Given the description of an element on the screen output the (x, y) to click on. 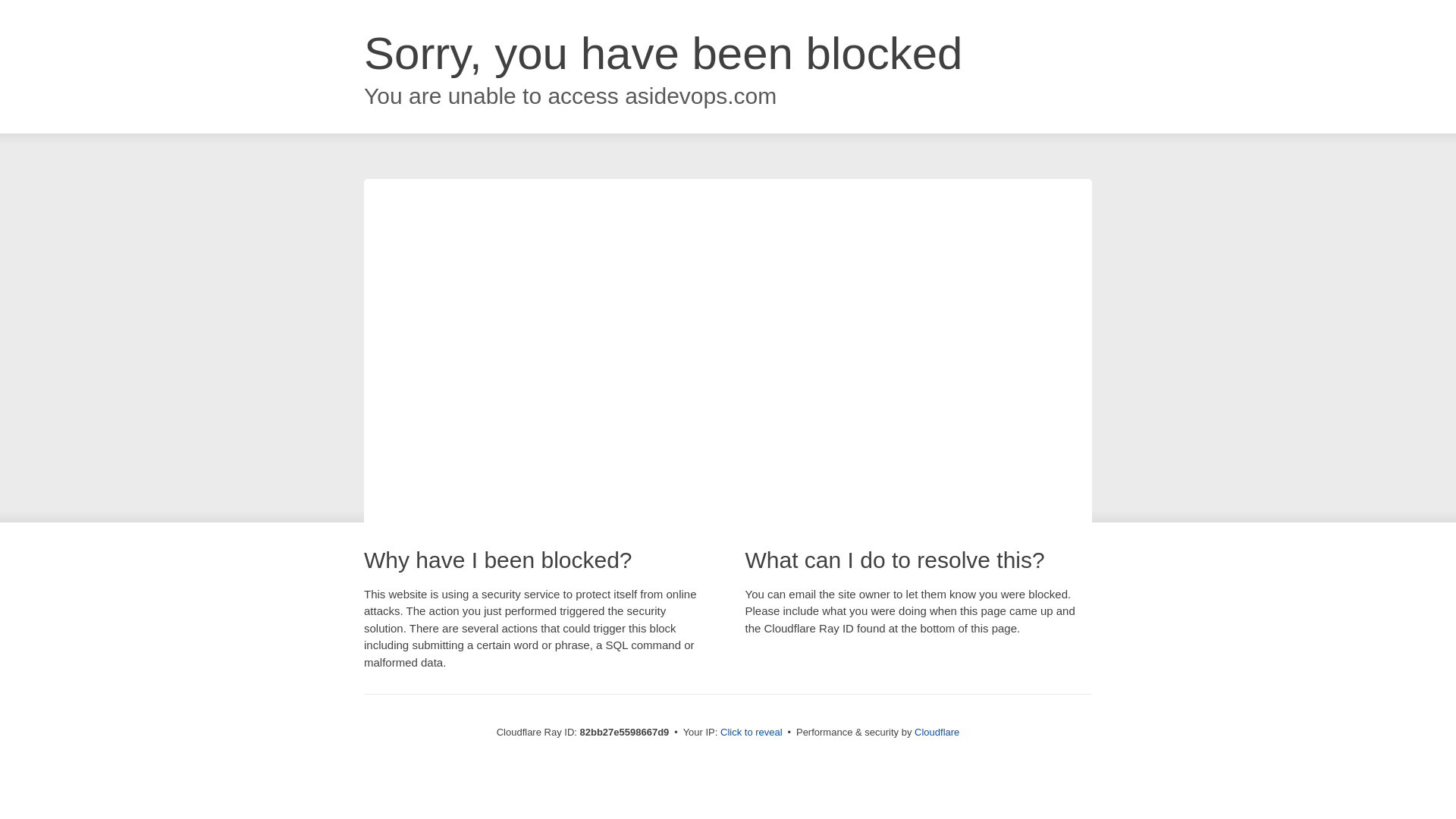
Click to reveal Element type: text (751, 732)
Cloudflare Element type: text (936, 731)
